Given the description of an element on the screen output the (x, y) to click on. 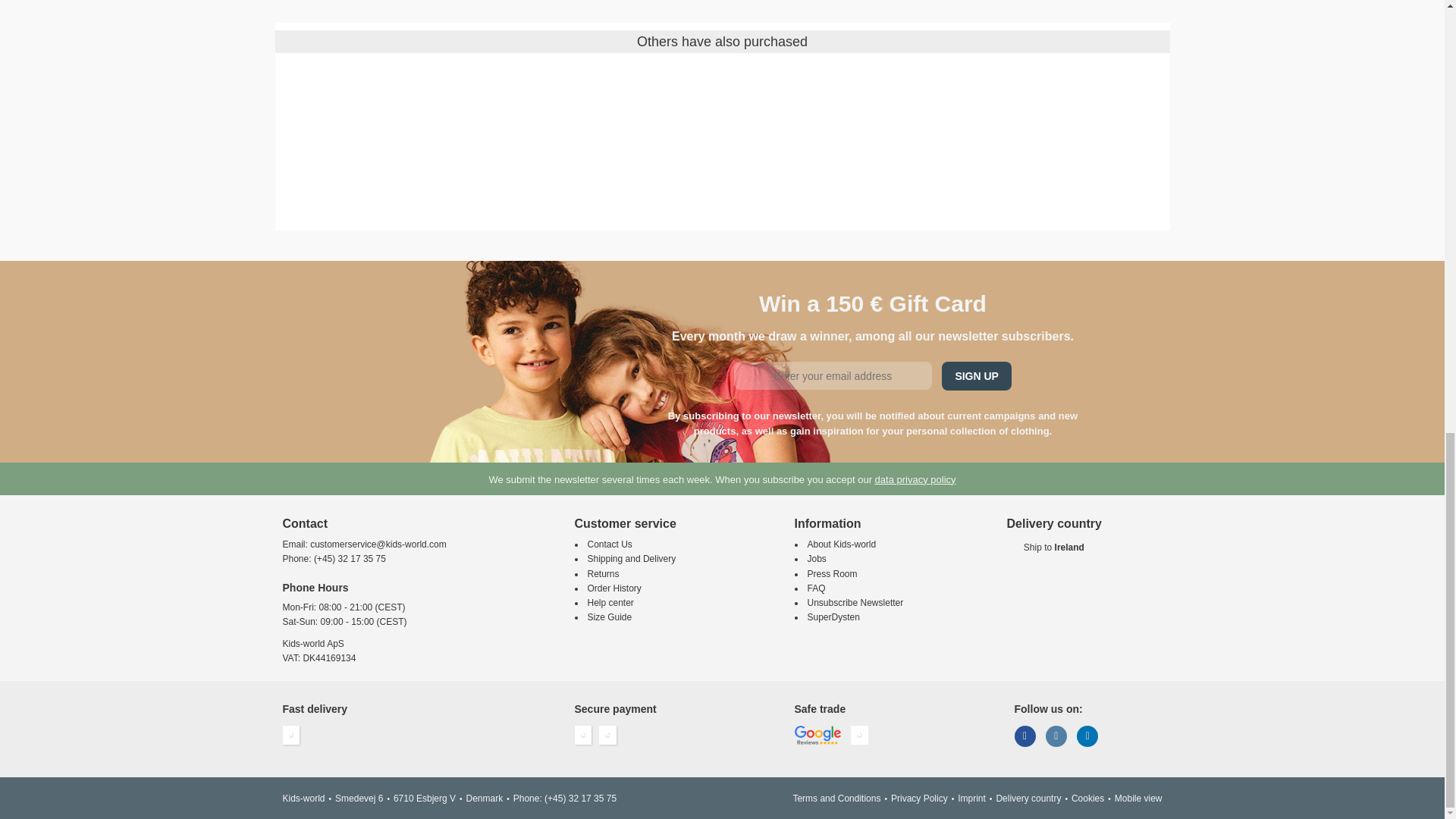
CO2 Neutral Website (858, 734)
Facebook (1024, 736)
Instagram (1056, 736)
LinkedIn (1087, 736)
